Given the description of an element on the screen output the (x, y) to click on. 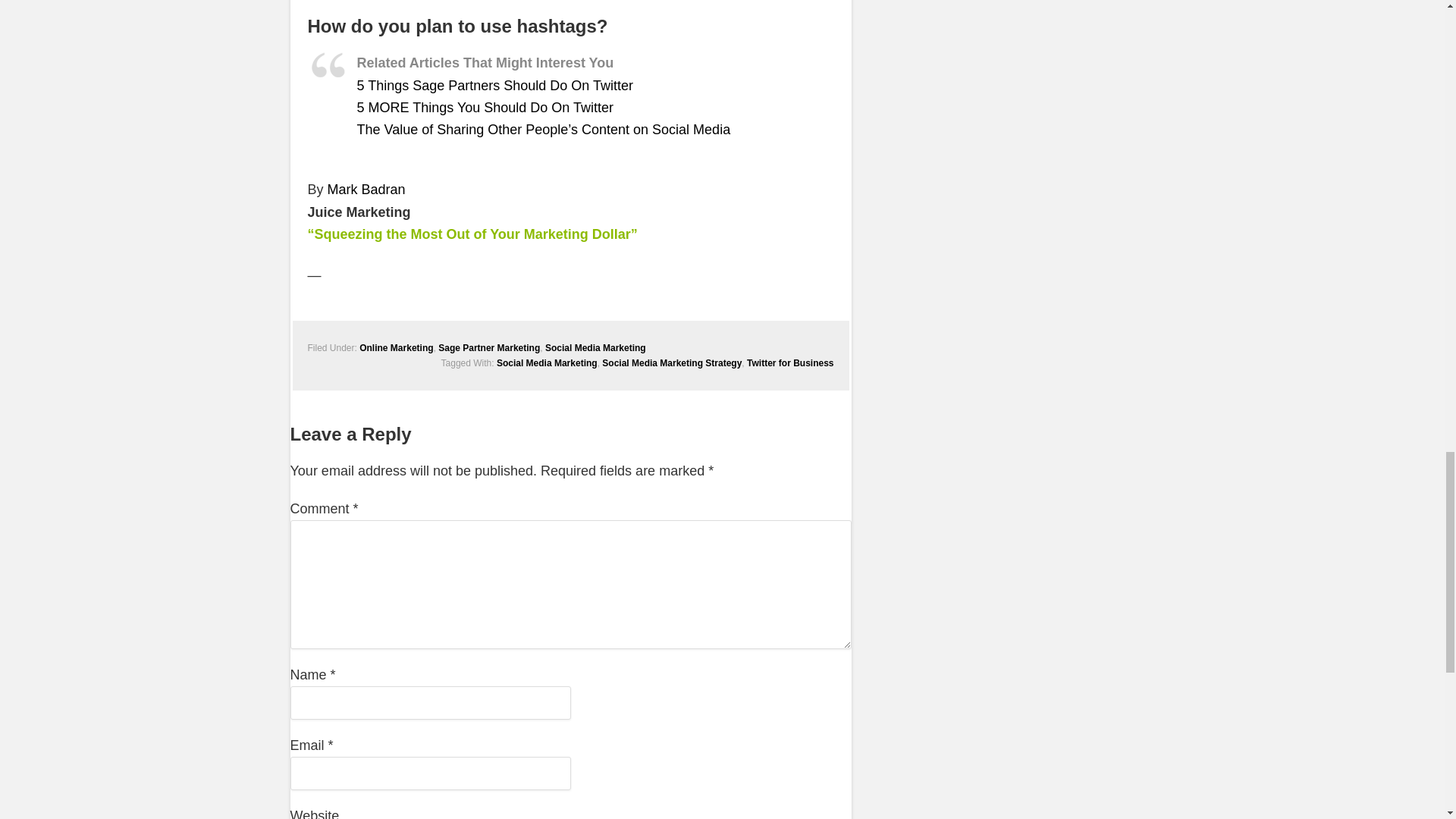
Mark Badran (366, 189)
Sage Partner Marketing (489, 347)
Online Marketing (395, 347)
5 MORE Things You Should Do On Twitter (484, 107)
5 More Things on Twitter (484, 107)
5 Things To Do on Twitter (494, 85)
Twitter for Business (789, 362)
Social Media Marketing (546, 362)
Social Media Marketing (595, 347)
Share Content Social Media (543, 129)
